Given the description of an element on the screen output the (x, y) to click on. 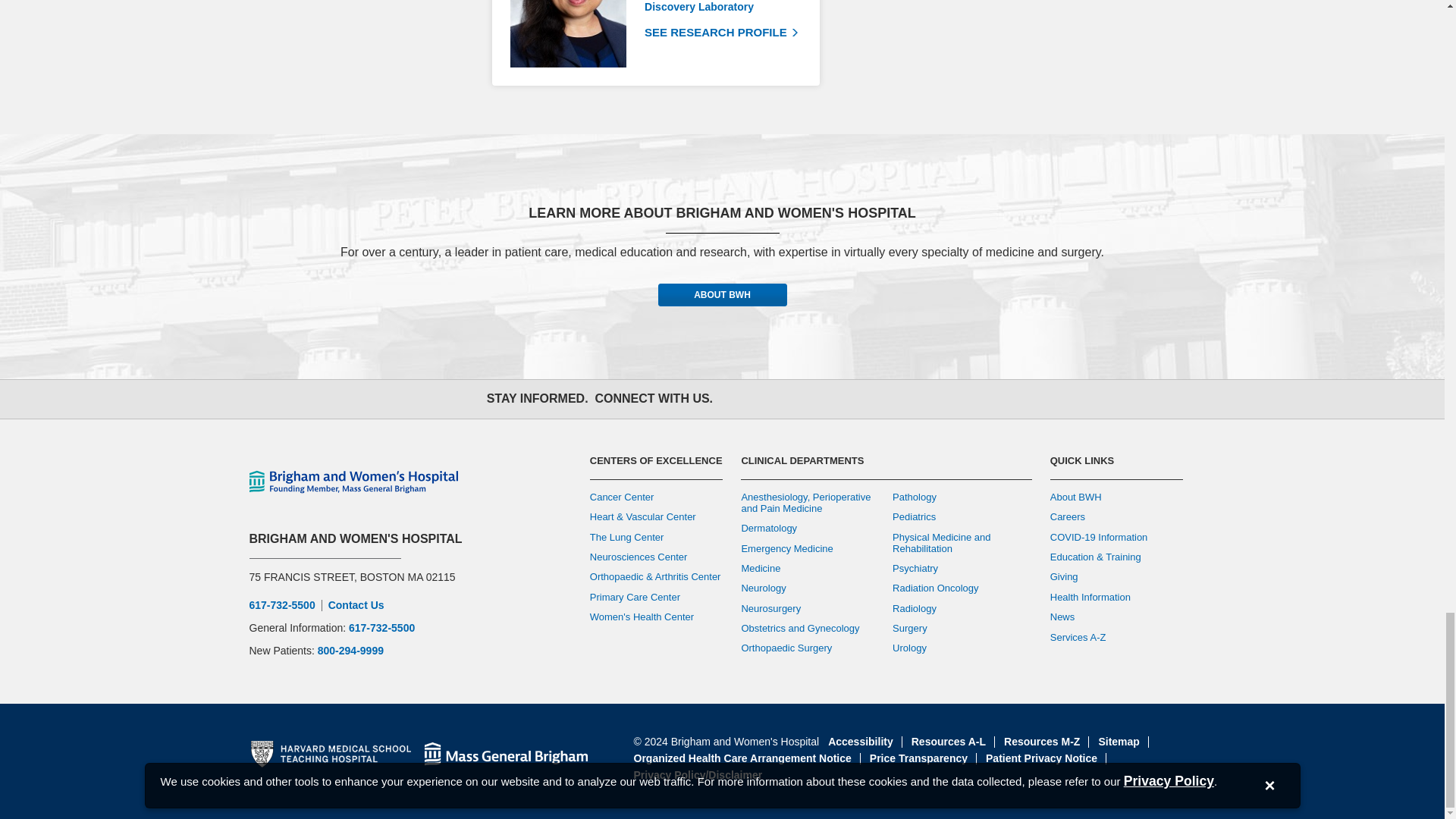
YouTube (838, 399)
Newsroom (905, 399)
Facebook (738, 399)
Instagram (804, 399)
LinkedIn (871, 399)
Physician Bios (830, 54)
